Given the description of an element on the screen output the (x, y) to click on. 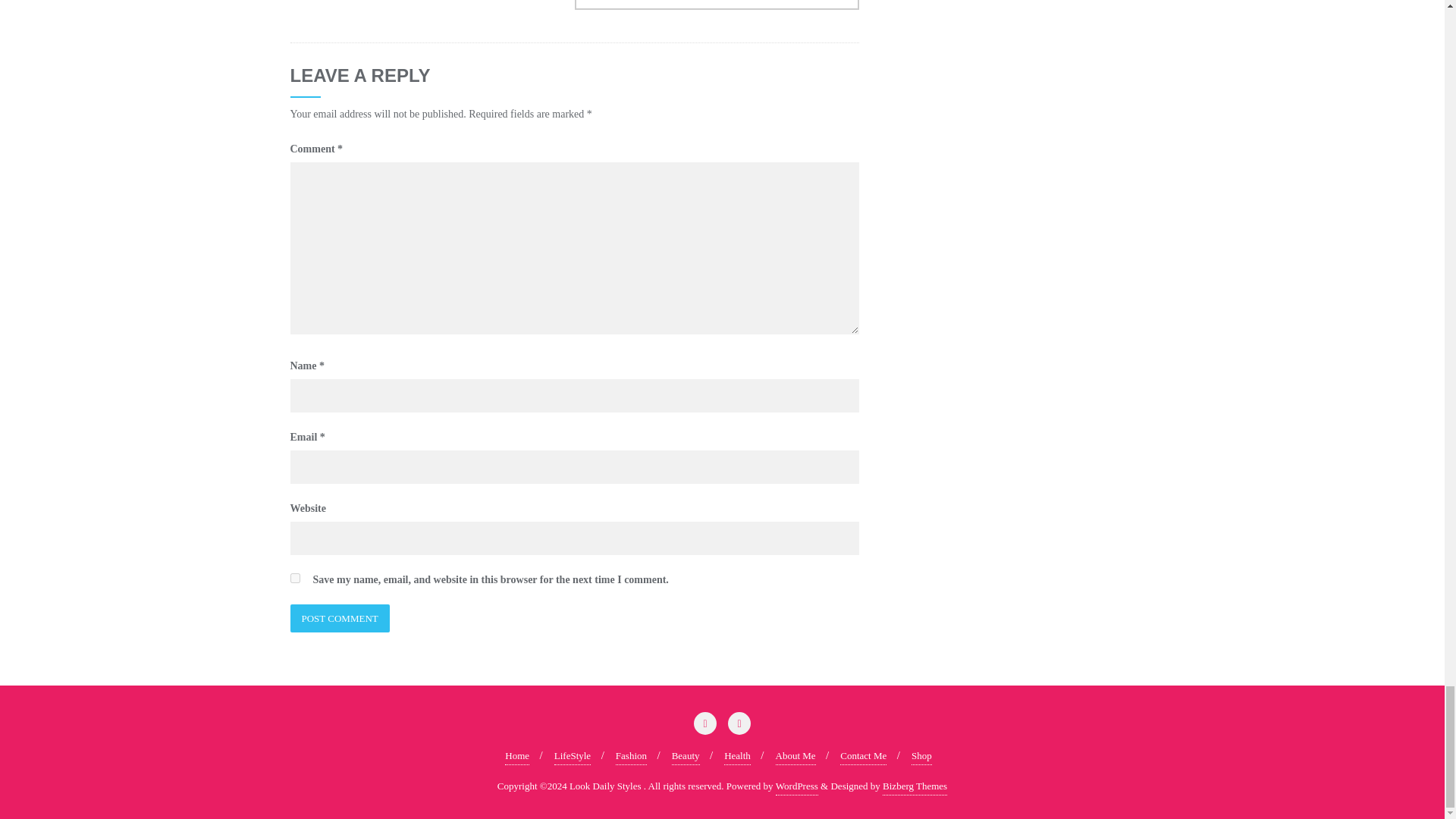
yes (294, 578)
Post Comment (338, 618)
Fashion (630, 755)
Home (517, 755)
LifeStyle (572, 755)
7 WAYS TO CYCLE YOUR FULLY WEAR CLOTHES (717, 4)
Post Comment (338, 618)
